Given the description of an element on the screen output the (x, y) to click on. 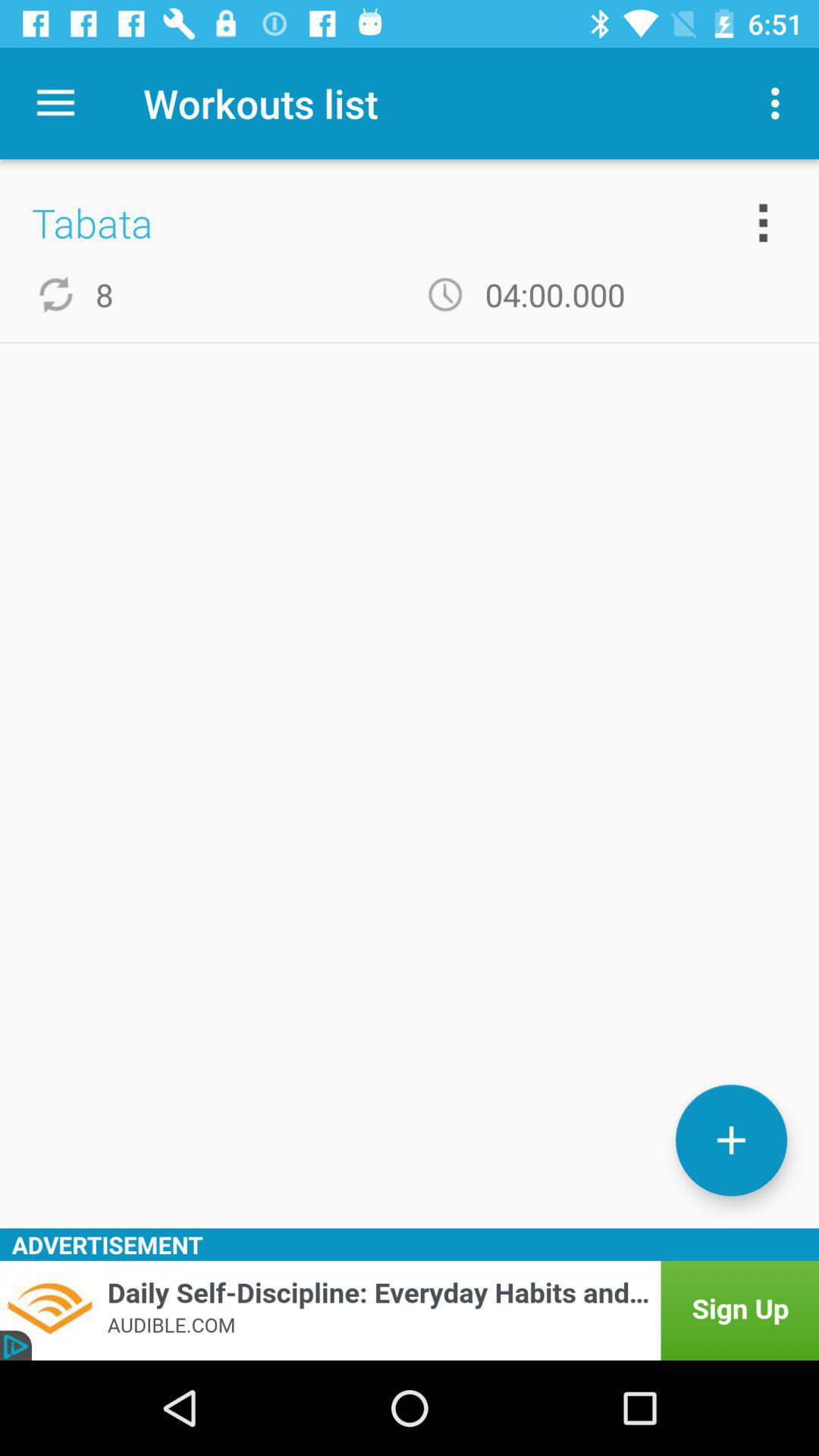
turn on the item next to the workouts list item (779, 103)
